Given the description of an element on the screen output the (x, y) to click on. 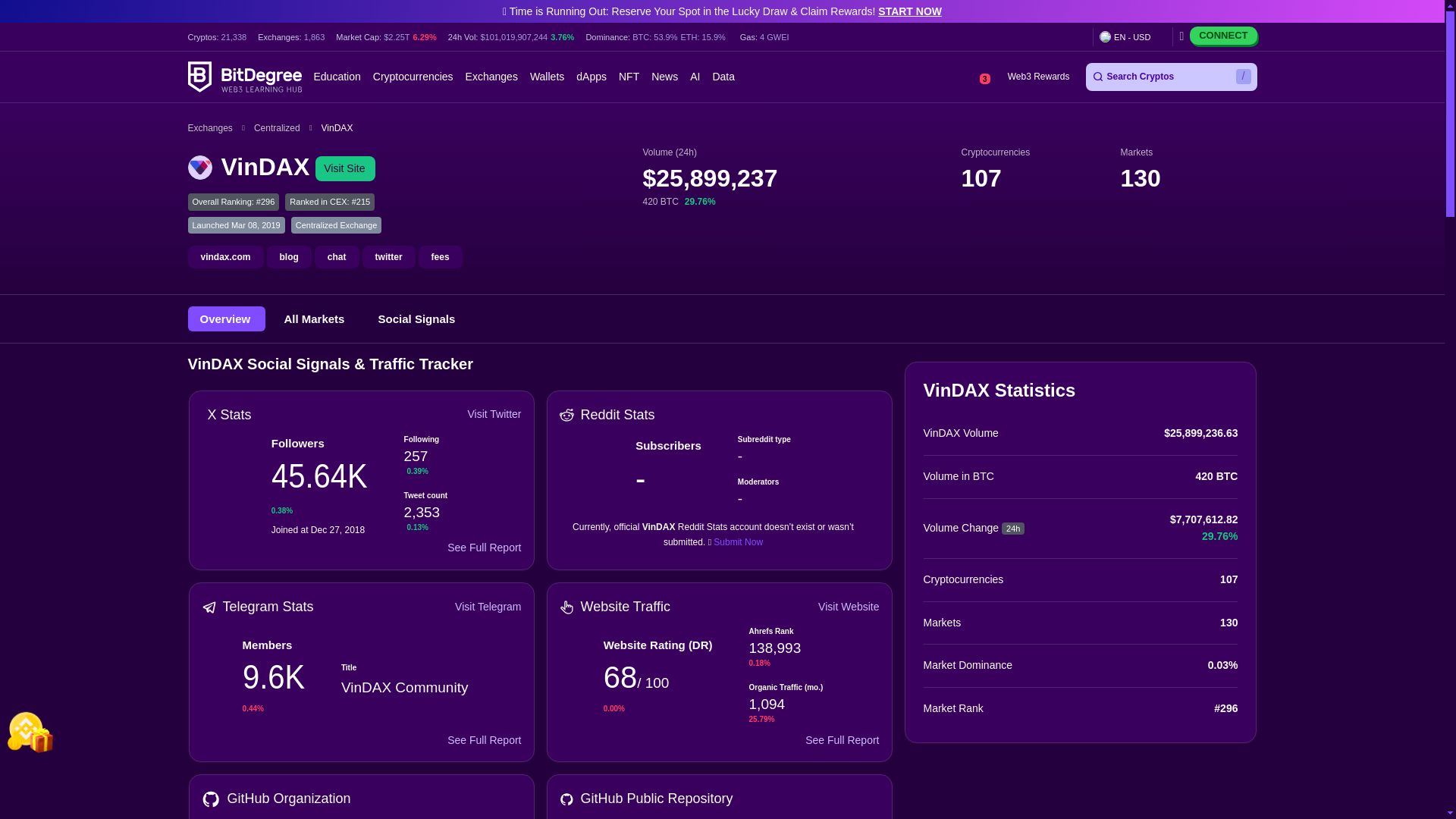
Visit Website (848, 607)
dApps (591, 76)
Web3 Rewards (1037, 77)
Exchanges (220, 128)
NFT (628, 76)
All Markets (314, 318)
vindax.com (225, 256)
Social Signals (416, 318)
Centralized (287, 128)
See Full Report (483, 740)
1,863 (314, 35)
Cryptocurrencies (412, 76)
21,338 (234, 35)
News (664, 76)
fees (441, 256)
